Given the description of an element on the screen output the (x, y) to click on. 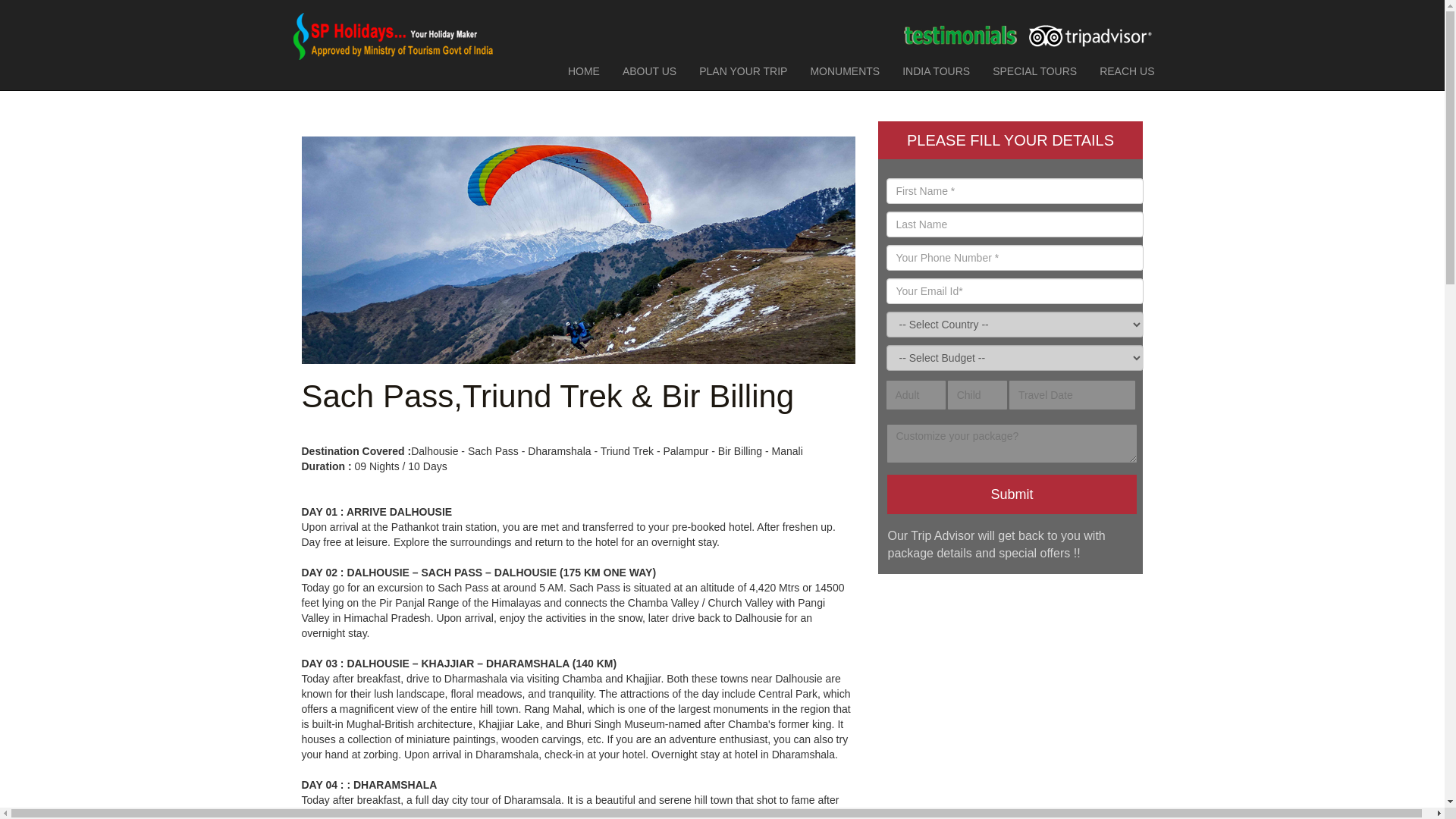
SPECIAL TOURS (1034, 71)
REACH US (1126, 71)
ABOUT US (649, 71)
Submit (1011, 494)
MONUMENTS (844, 71)
Advertisement (1009, 691)
INDIA TOURS (936, 71)
HOME (583, 71)
PLAN YOUR TRIP (742, 71)
Submit (1011, 494)
